Given the description of an element on the screen output the (x, y) to click on. 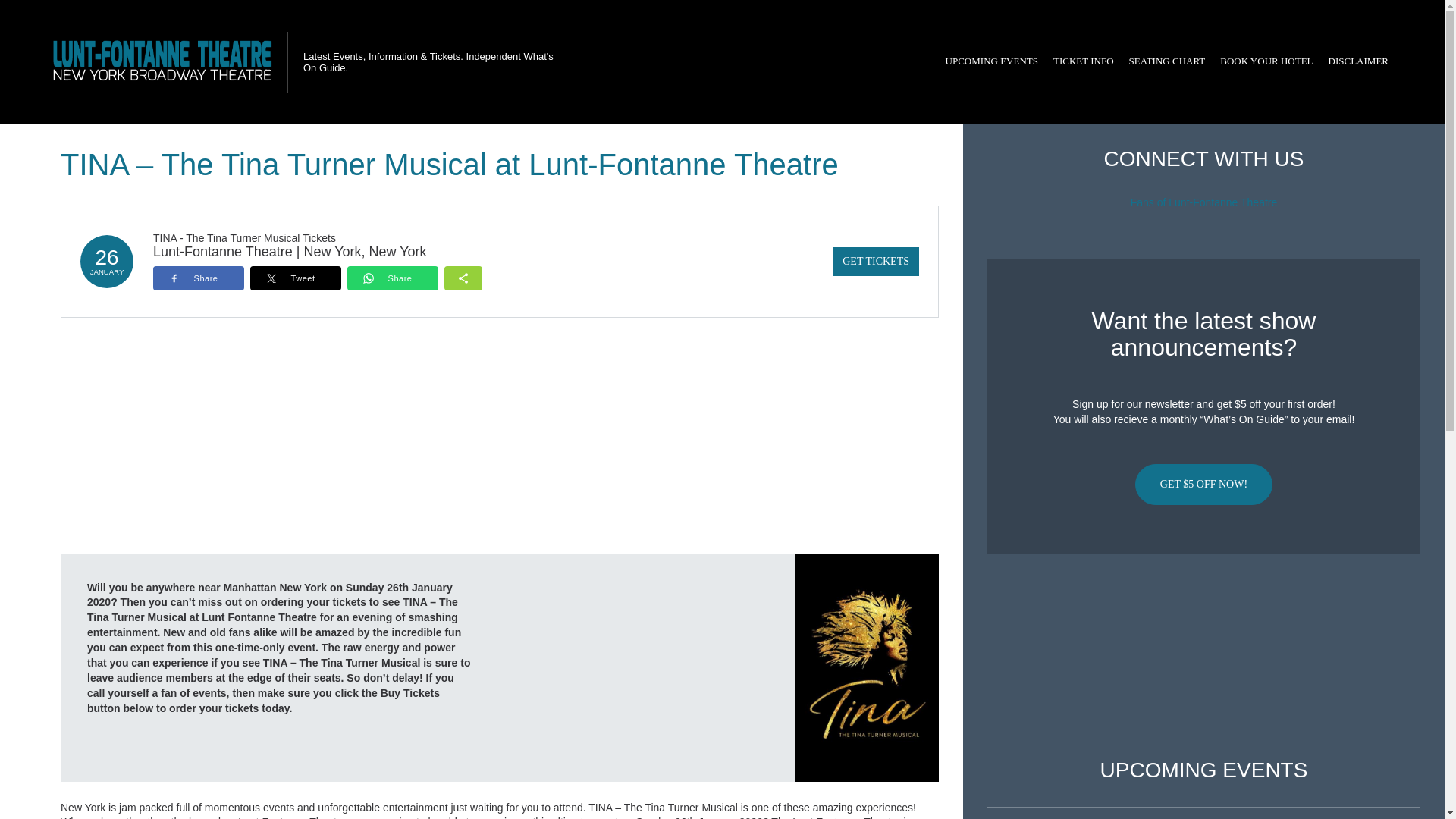
GET TICKETS (875, 261)
TICKET INFO (1083, 61)
SEATING CHART (1166, 61)
DISCLAIMER (1358, 61)
Advertisement (1204, 655)
TINA - The Tina Turner Musical Tickets (244, 237)
BOOK YOUR HOTEL (1266, 61)
UPCOMING EVENTS (991, 61)
Fans of Lunt-Fontanne Theatre (1204, 202)
